Given the description of an element on the screen output the (x, y) to click on. 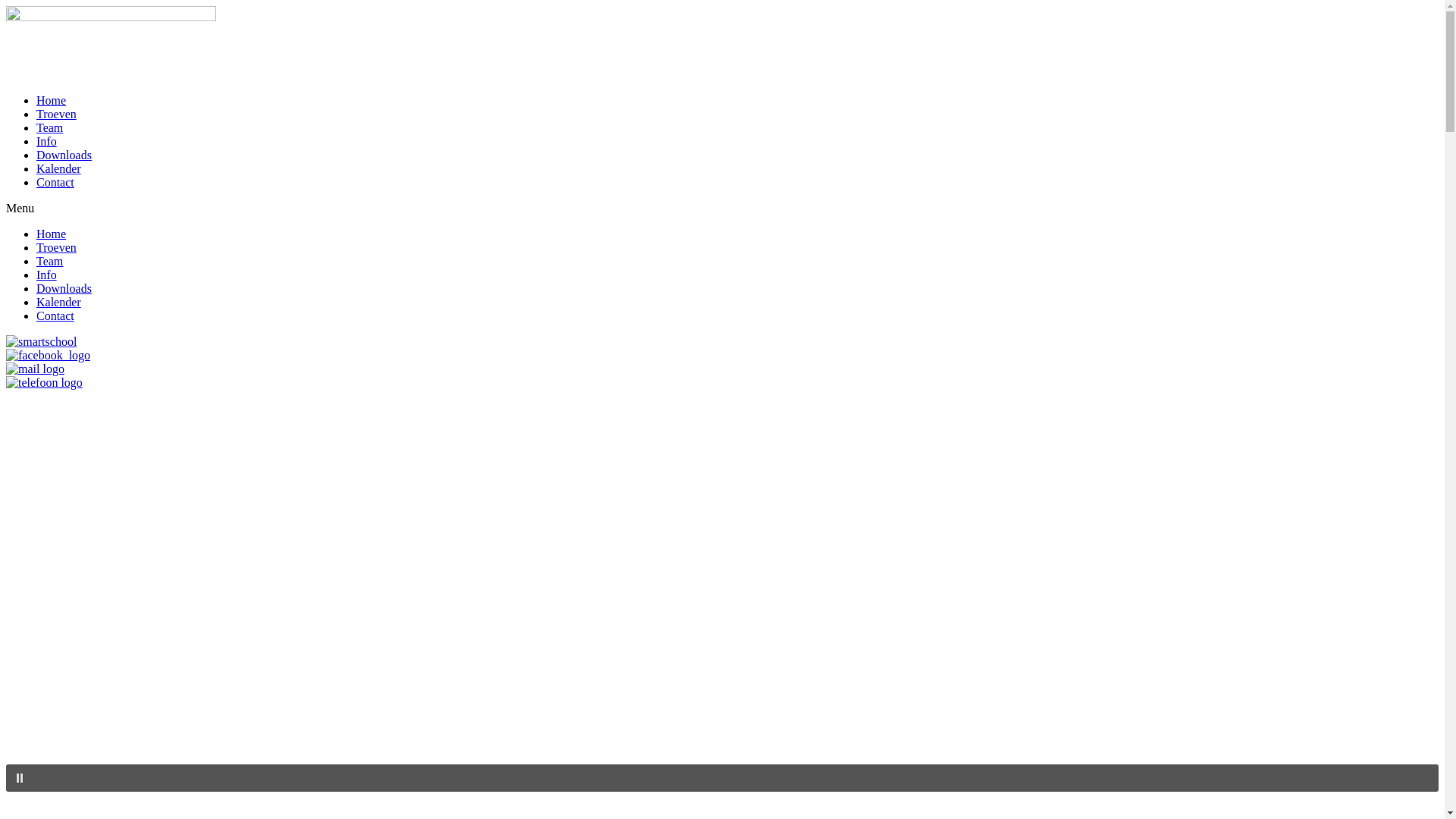
Kalender Element type: text (58, 168)
Home Element type: text (50, 233)
facebook_logo Element type: hover (48, 355)
Team Element type: text (49, 127)
mail logo Element type: hover (35, 369)
Troeven Element type: text (56, 247)
Team Element type: text (49, 260)
Contact Element type: text (55, 315)
Contact Element type: text (55, 181)
Downloads Element type: text (63, 154)
Info Element type: text (46, 140)
Troeven Element type: text (56, 113)
Home Element type: text (50, 100)
Kalender Element type: text (58, 301)
Info Element type: text (46, 274)
smartschool Element type: hover (41, 341)
telefoon logo Element type: hover (44, 382)
Downloads Element type: text (63, 288)
